Given the description of an element on the screen output the (x, y) to click on. 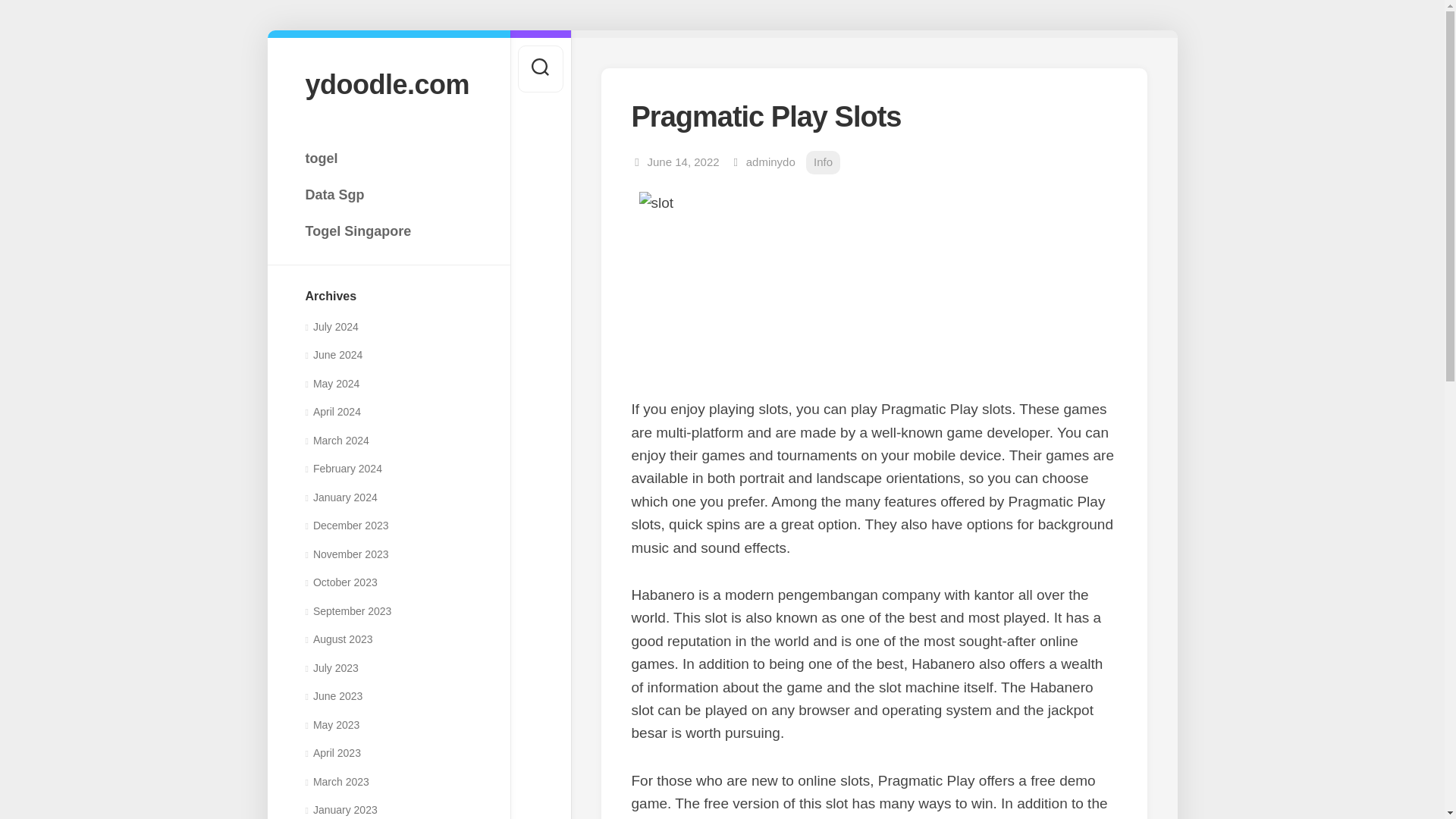
March 2023 (336, 781)
July 2024 (331, 326)
Posts by adminydo (769, 161)
April 2024 (331, 411)
August 2023 (338, 639)
June 2023 (333, 695)
January 2023 (340, 809)
January 2024 (340, 497)
February 2024 (342, 468)
December 2023 (346, 525)
April 2023 (331, 752)
May 2024 (331, 383)
October 2023 (340, 582)
July 2023 (331, 667)
